Given the description of an element on the screen output the (x, y) to click on. 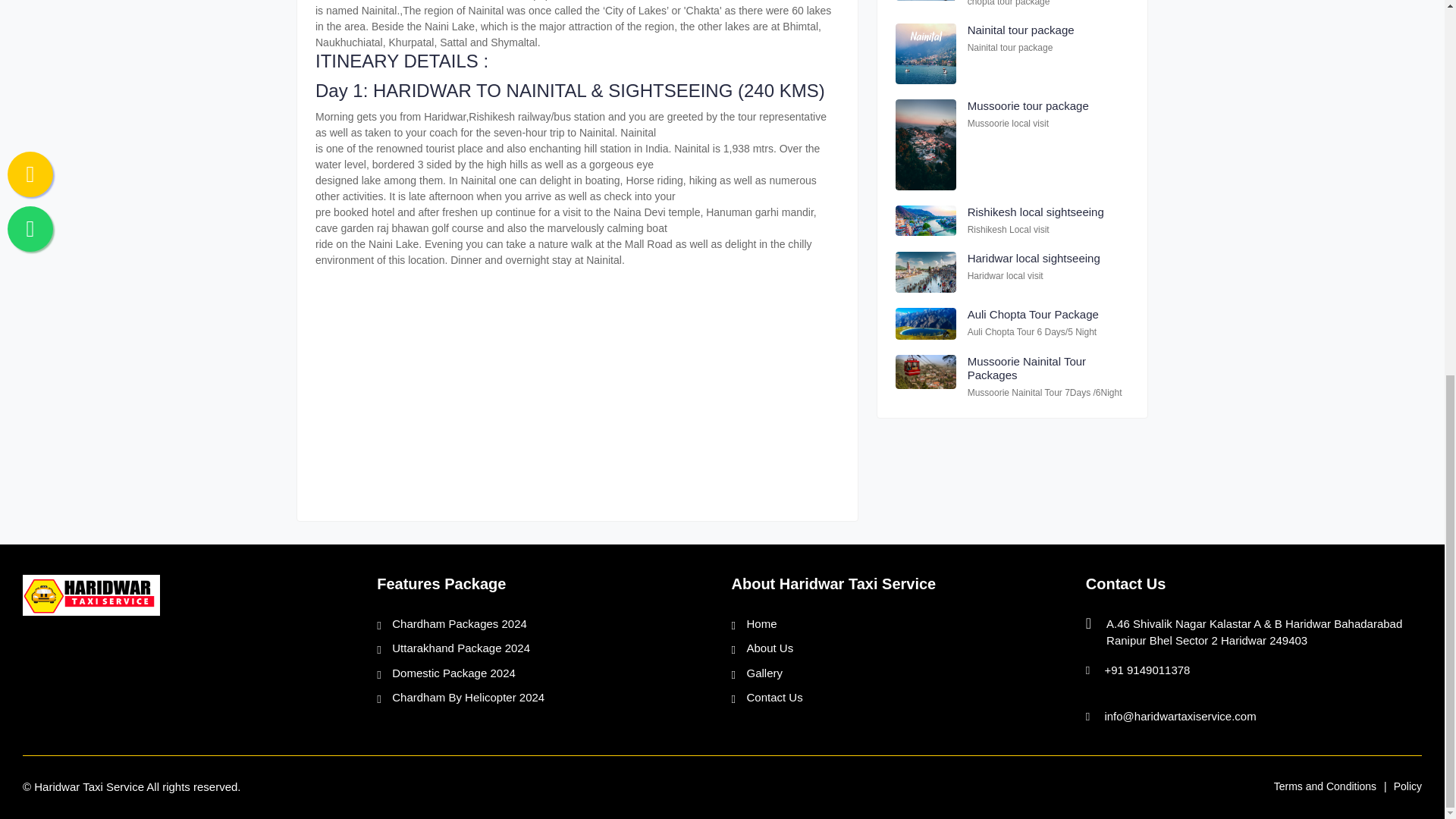
Auli Chopta Tour Package (1033, 314)
Nainital tour package (1021, 29)
Mussoorie tour package (1028, 105)
Haridwar local sightseeing (1034, 257)
Rishikesh local sightseeing (1035, 211)
